Given the description of an element on the screen output the (x, y) to click on. 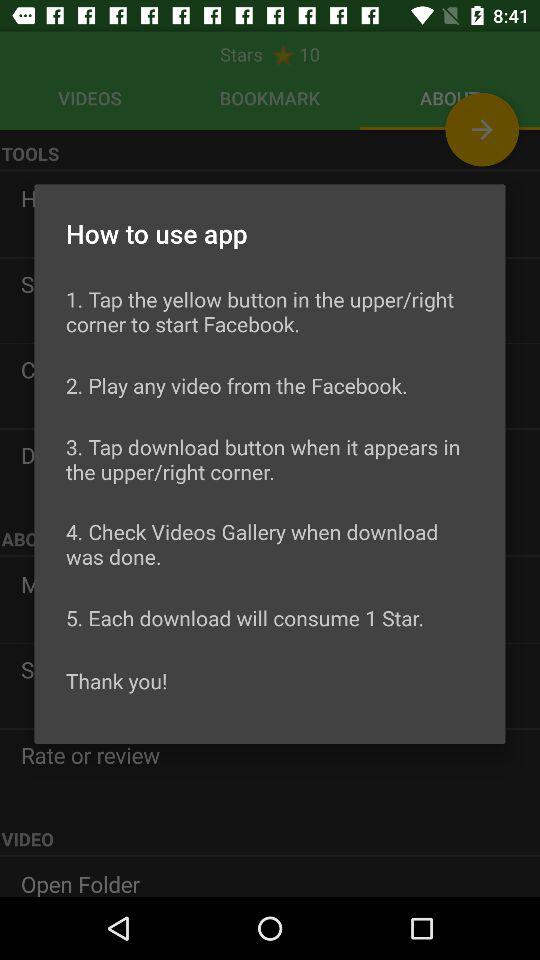
swipe until 4 check videos (269, 543)
